Given the description of an element on the screen output the (x, y) to click on. 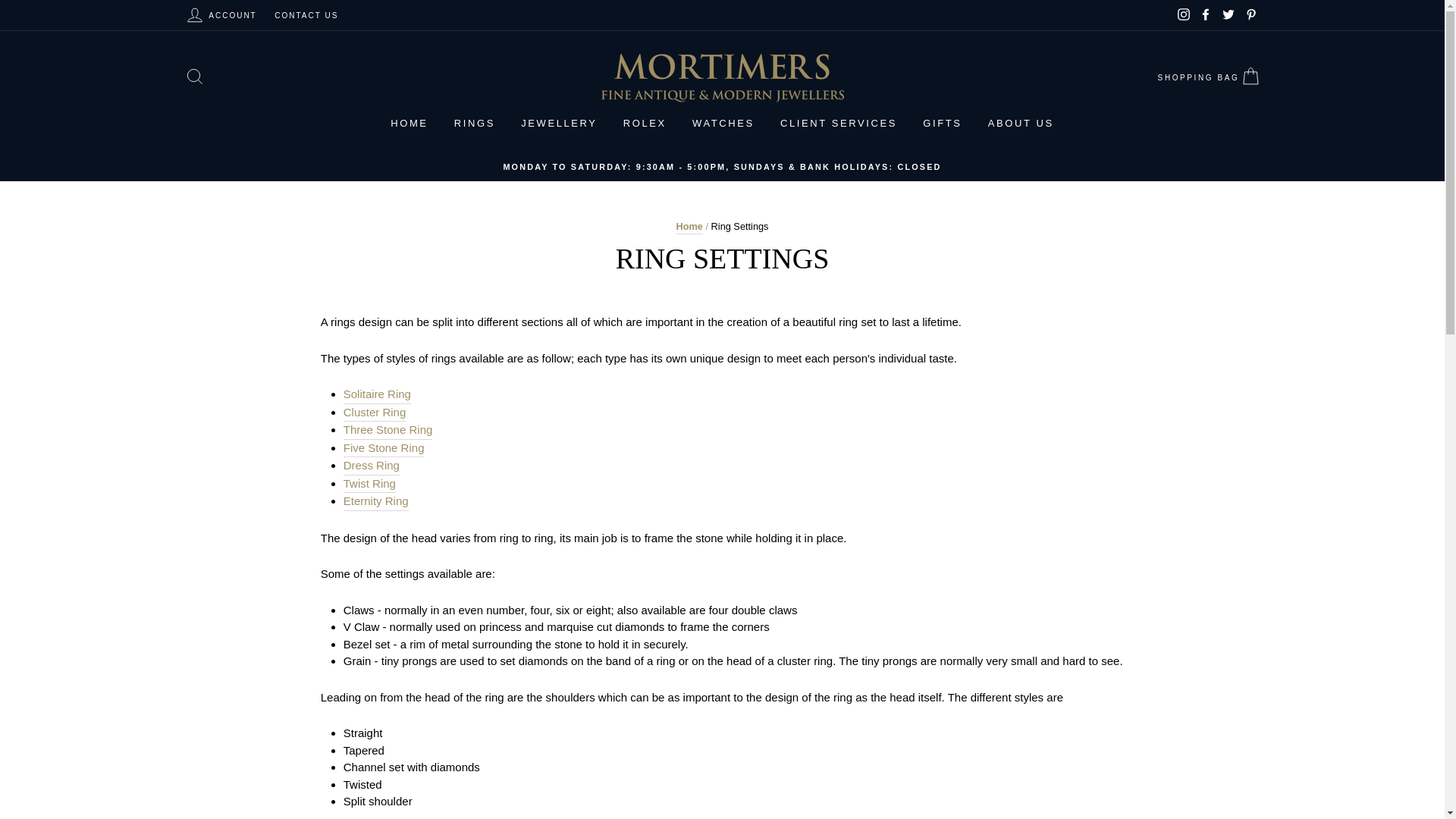
Mortimers Jewellers on Twitter (1228, 14)
Mortimers Jewellers on Instagram (1183, 14)
Mortimers Jewellers on Facebook (1205, 14)
Mortimers Jewellers on Pinterest (1250, 14)
Back to the frontpage (690, 226)
